Given the description of an element on the screen output the (x, y) to click on. 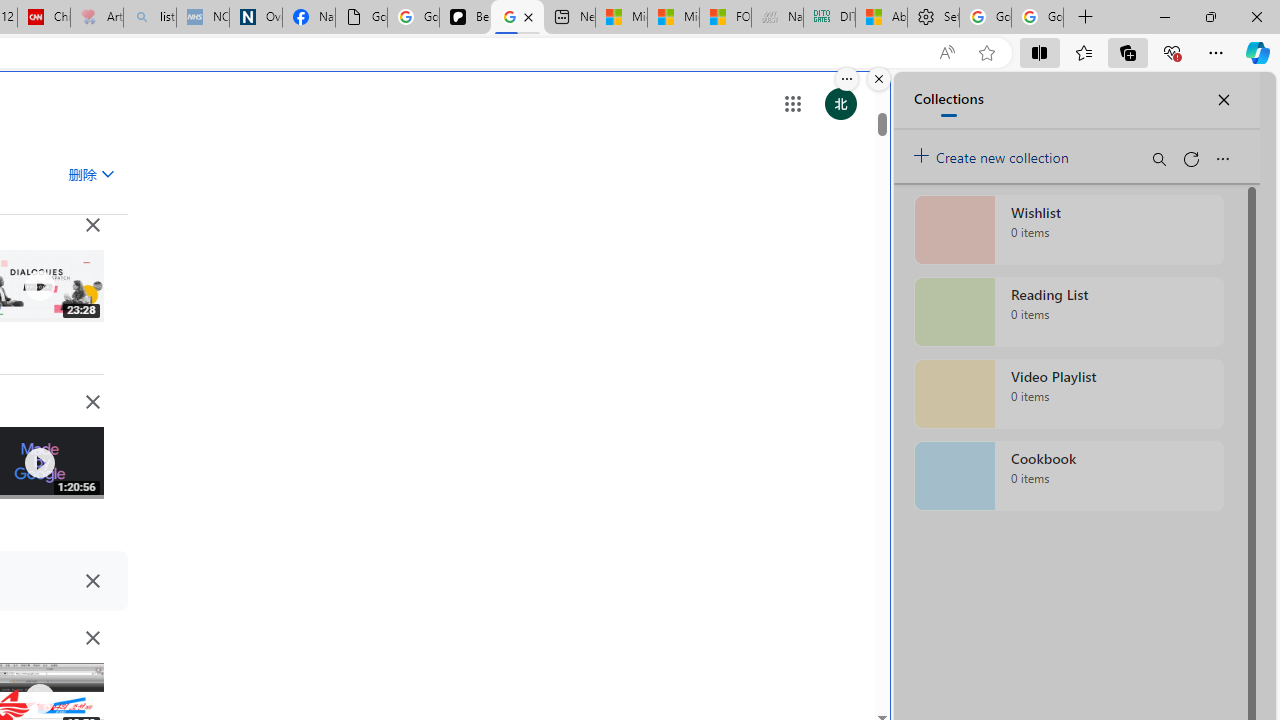
More options. (846, 79)
Class: TjcpUd NMm5M (91, 637)
NCL Adult Asthma Inhaler Choice Guideline - Sleeping (202, 17)
Close split screen. (878, 79)
DITOGAMES AG Imprint (829, 17)
Arthritis: Ask Health Professionals - Sleeping (96, 17)
